Given the description of an element on the screen output the (x, y) to click on. 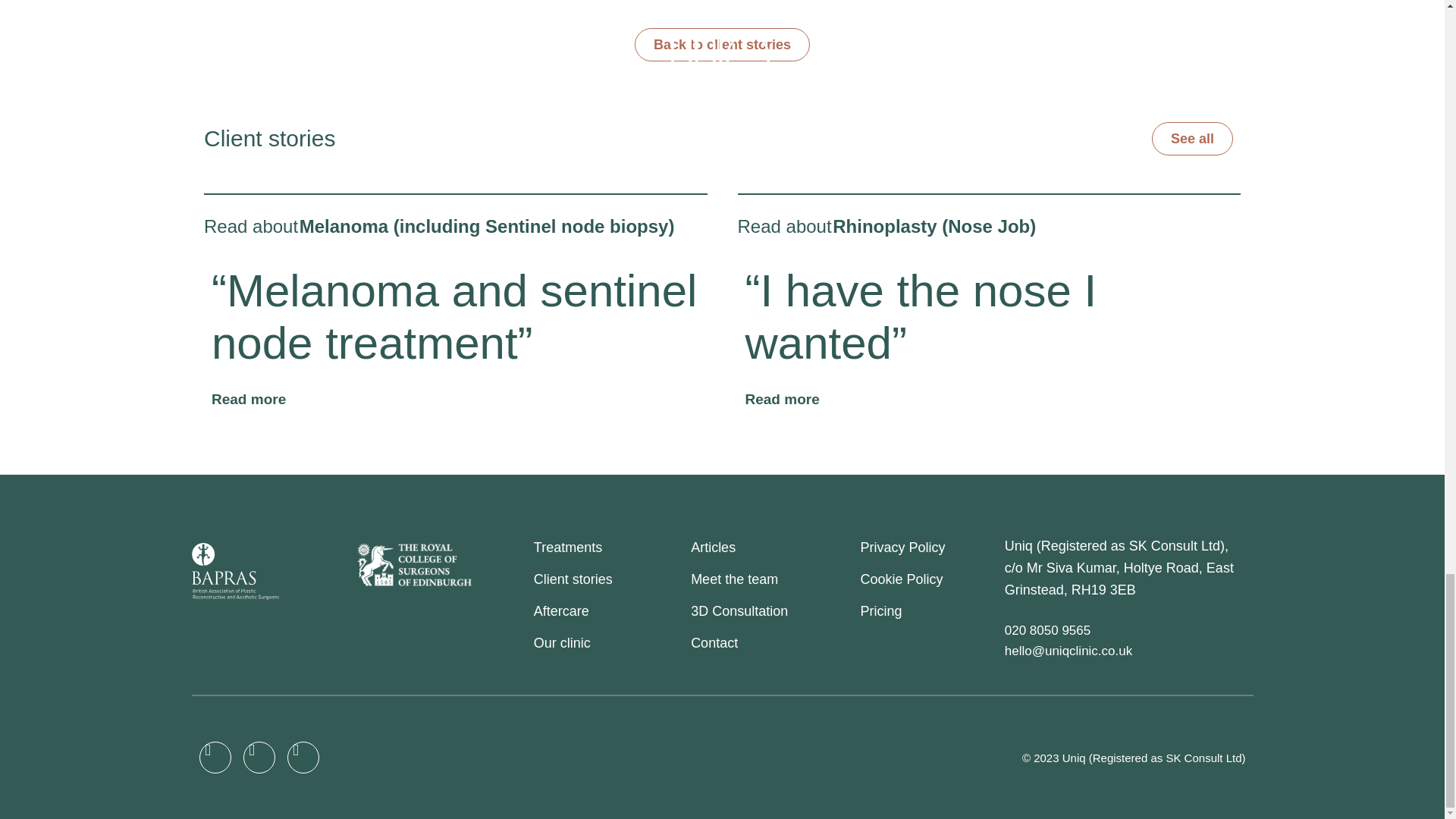
Back to client stories (721, 44)
3D Consultation (771, 611)
Client stories (608, 579)
Treatments (608, 547)
Privacy Policy (930, 547)
Read more (248, 399)
Contact (771, 643)
See all (1192, 138)
Aftercare (608, 611)
Meet the team (771, 579)
